Given the description of an element on the screen output the (x, y) to click on. 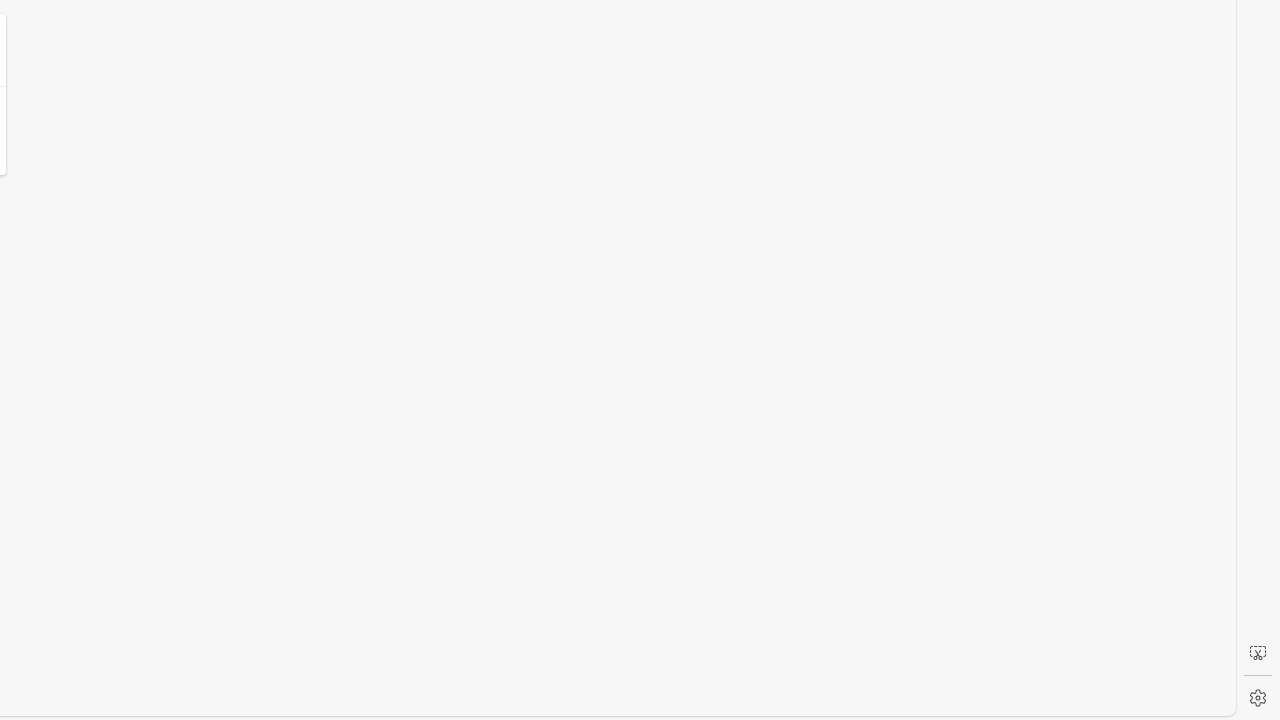
Settings Element type: push-button (1258, 698)
Screenshot Element type: push-button (1258, 653)
